Given the description of an element on the screen output the (x, y) to click on. 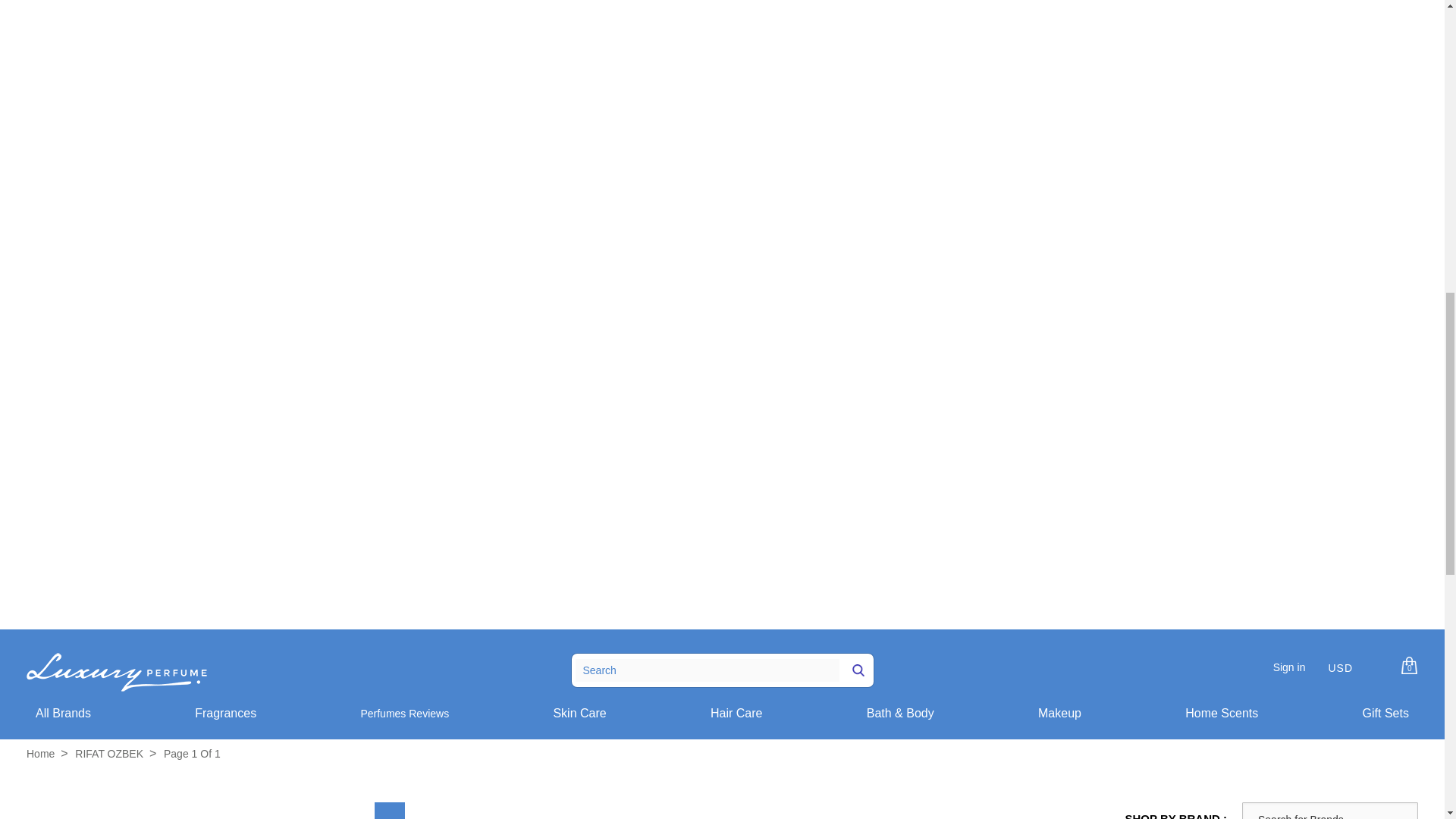
Grid (389, 810)
USD (1341, 673)
Fragrances (225, 713)
All Brands (62, 713)
RIFAT OZBEK (108, 753)
Skin Care (579, 713)
Luxury Perfumes (40, 753)
Sign in (1289, 666)
List (431, 810)
Hair Care (735, 713)
